Given the description of an element on the screen output the (x, y) to click on. 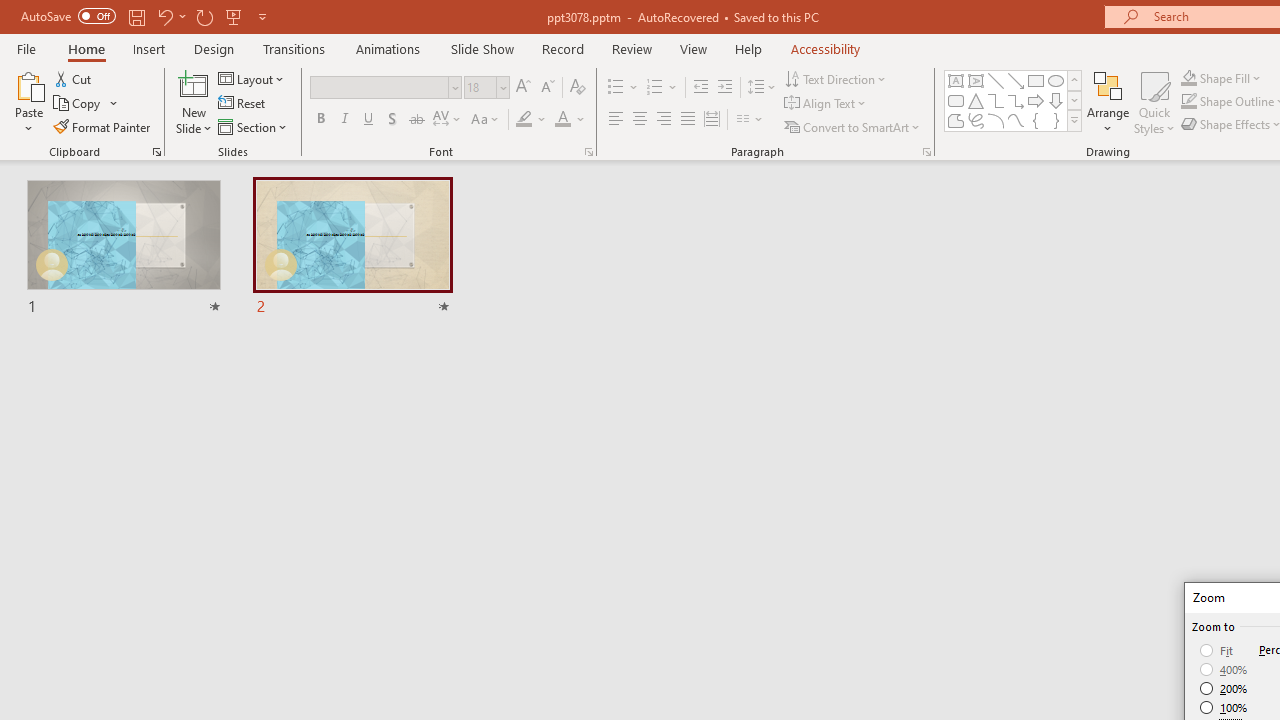
Shape Fill Dark Green, Accent 2 (1188, 78)
200% (1224, 688)
Shape Outline Green, Accent 1 (1188, 101)
